Given the description of an element on the screen output the (x, y) to click on. 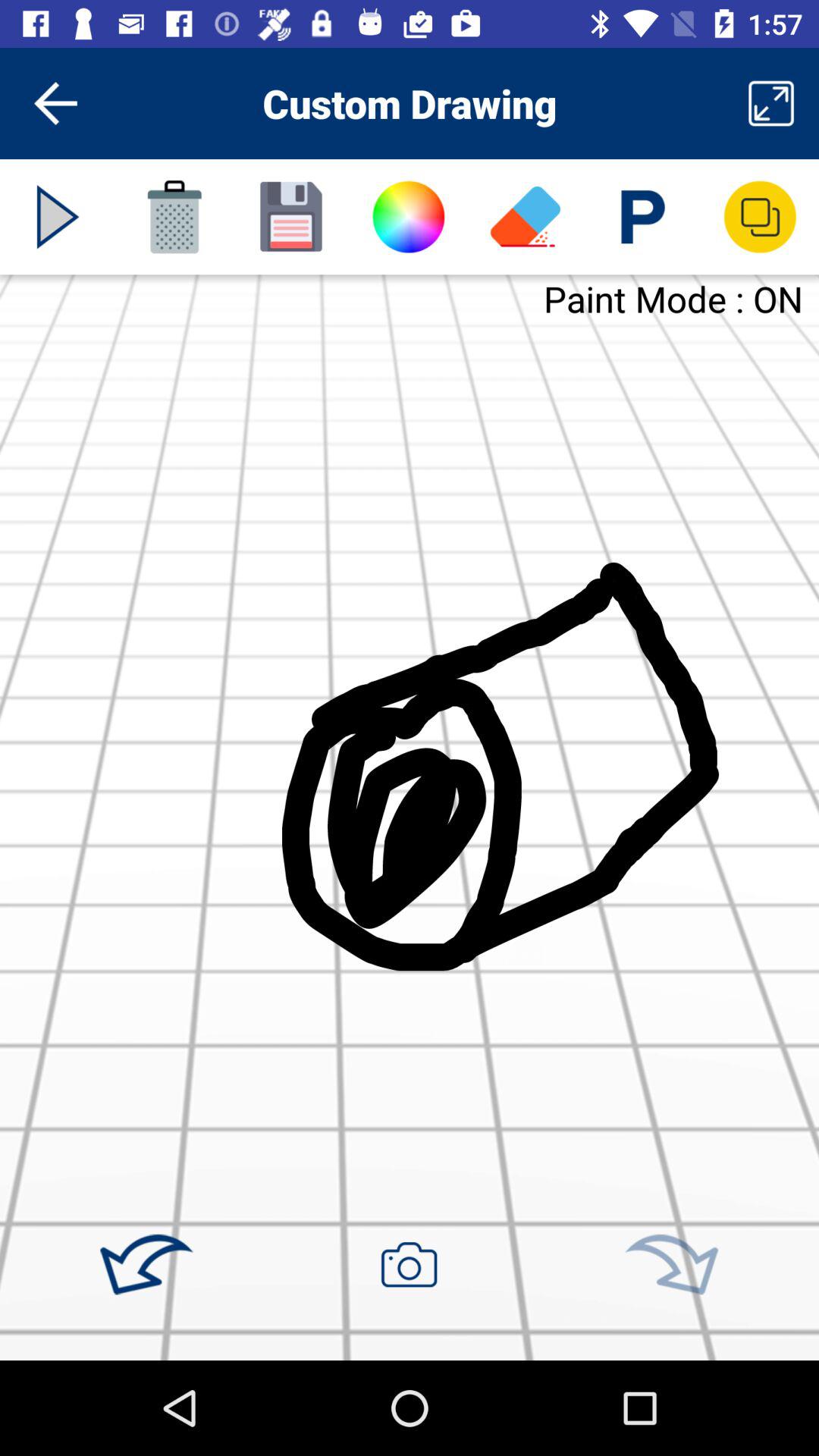
rotate view (671, 1264)
